Given the description of an element on the screen output the (x, y) to click on. 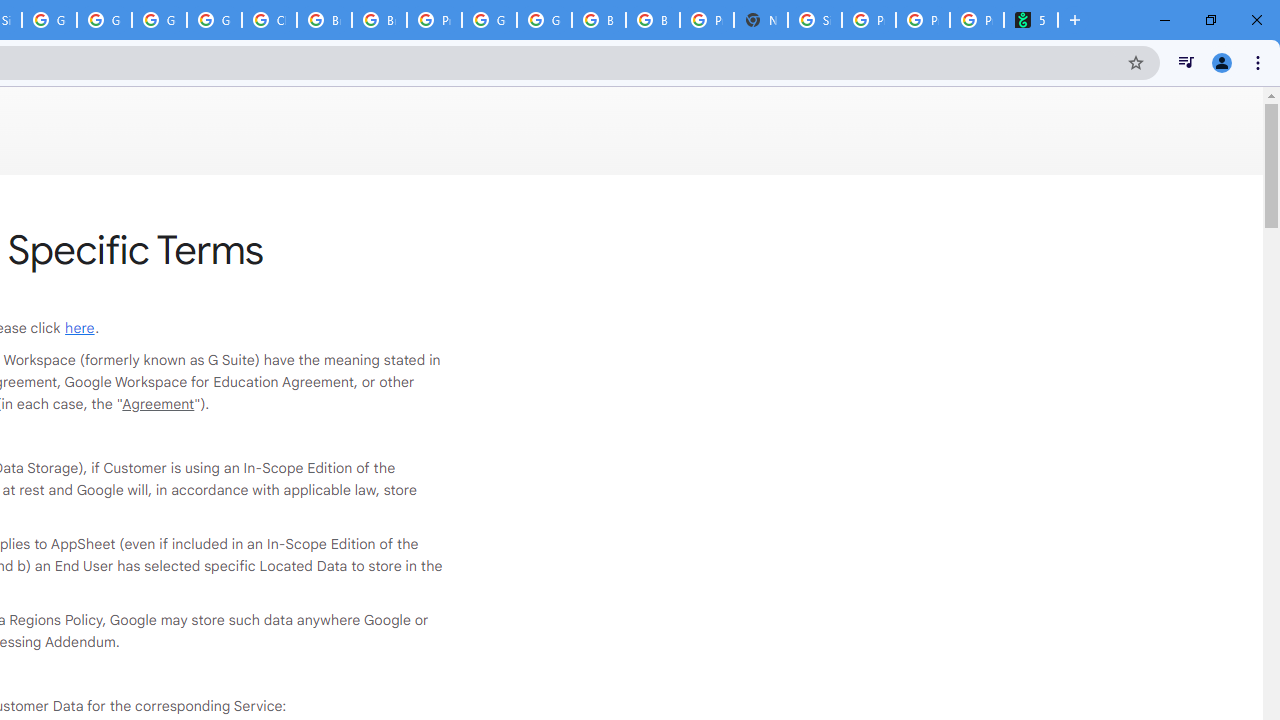
Google Cloud Platform (544, 20)
Browse Chrome as a guest - Computer - Google Chrome Help (379, 20)
New Tab (760, 20)
